Given the description of an element on the screen output the (x, y) to click on. 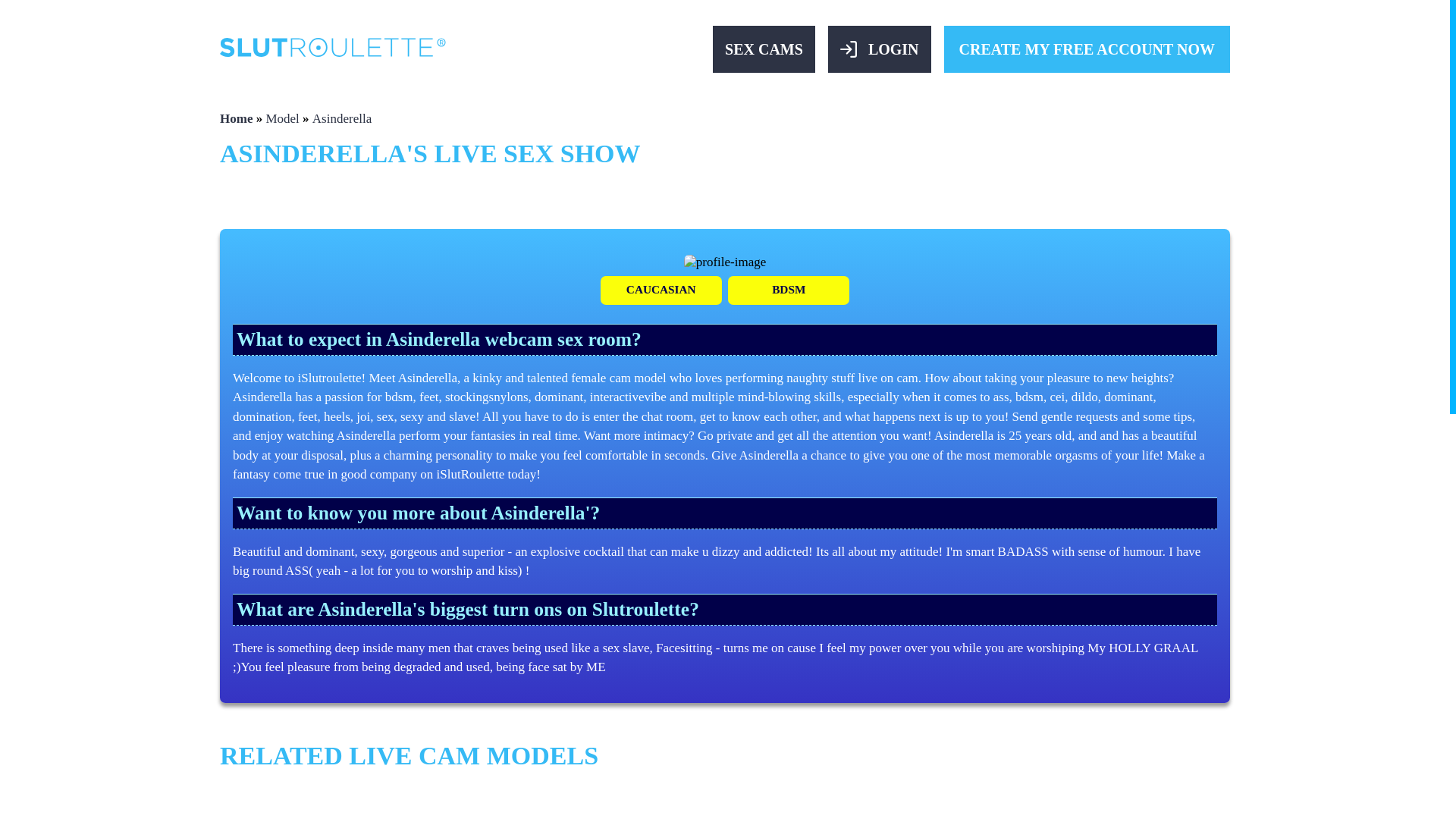
lenonie (808, 804)
CREATE MY FREE ACCOUNT NOW (1086, 48)
SEX CAMS (764, 48)
Live cam models from the bdsm category (788, 290)
Slutroulette webcam model named Hayiden (471, 804)
allastrange (302, 804)
Slutroulette webcam model named Zairacook (640, 804)
CAUCASIAN (660, 290)
Home (235, 118)
Slutroulette webcam model named Allastrange (302, 804)
